Given the description of an element on the screen output the (x, y) to click on. 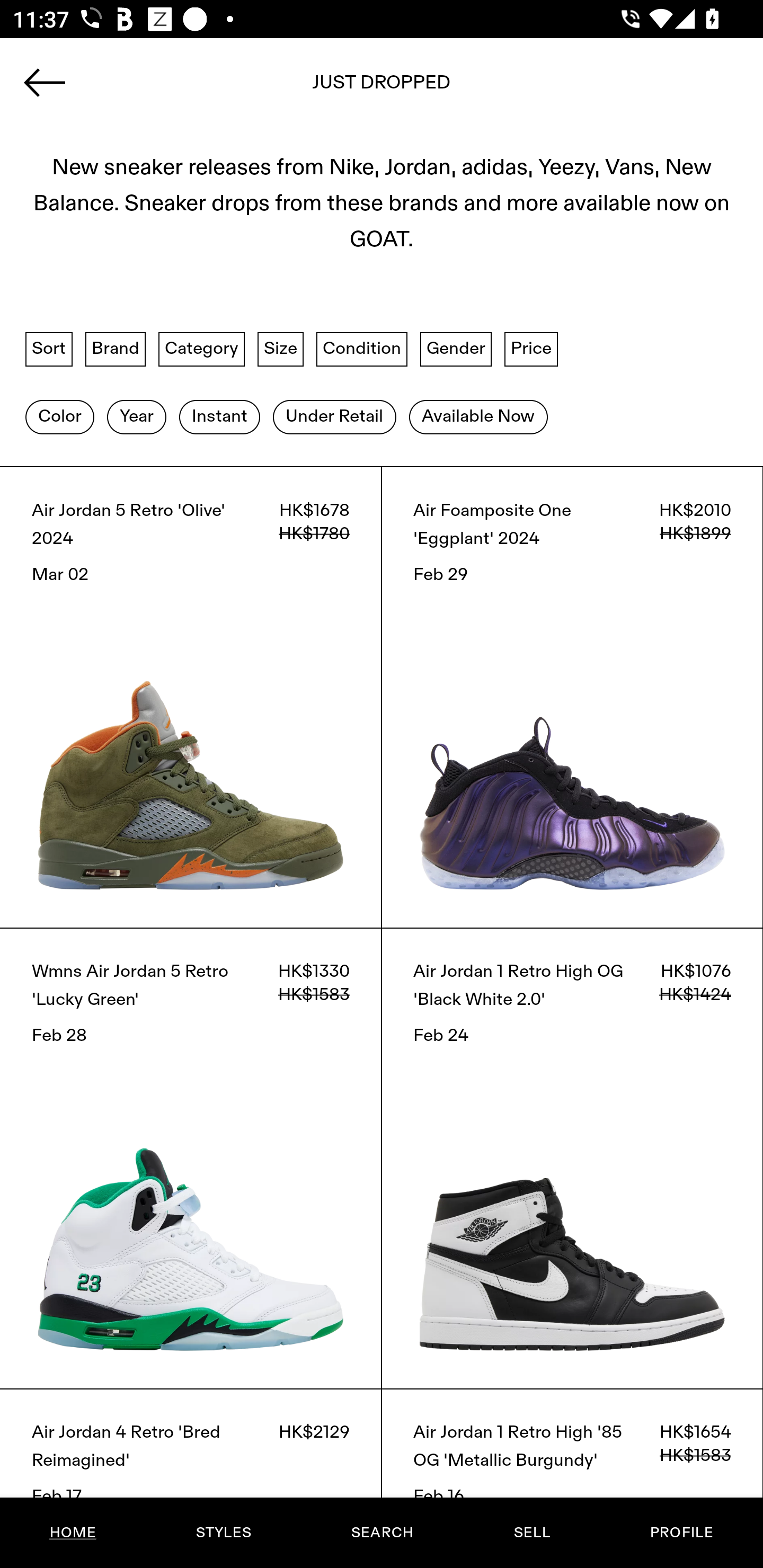
slippers (381, 88)
Sort (48, 348)
Brand (115, 348)
Category (201, 348)
Size (280, 348)
Condition (361, 348)
Gender (455, 348)
Price (530, 348)
Color (59, 416)
Year (136, 416)
Instant (219, 416)
Under Retail (334, 416)
Available Now (477, 416)
HOME (72, 1532)
STYLES (222, 1532)
SEARCH (381, 1532)
SELL (531, 1532)
PROFILE (681, 1532)
